Given the description of an element on the screen output the (x, y) to click on. 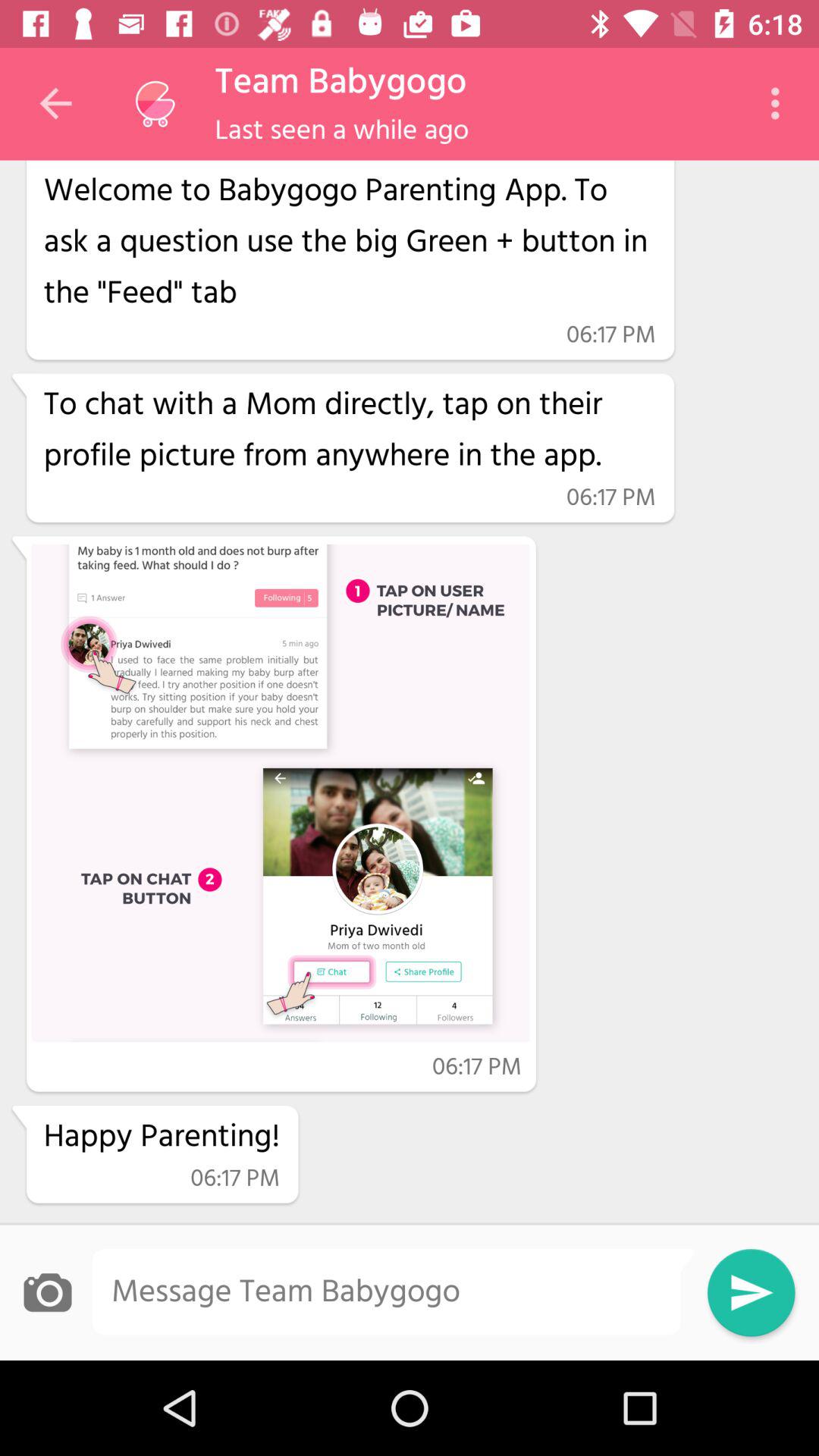
turn on item above 06:17 pm (349, 430)
